Given the description of an element on the screen output the (x, y) to click on. 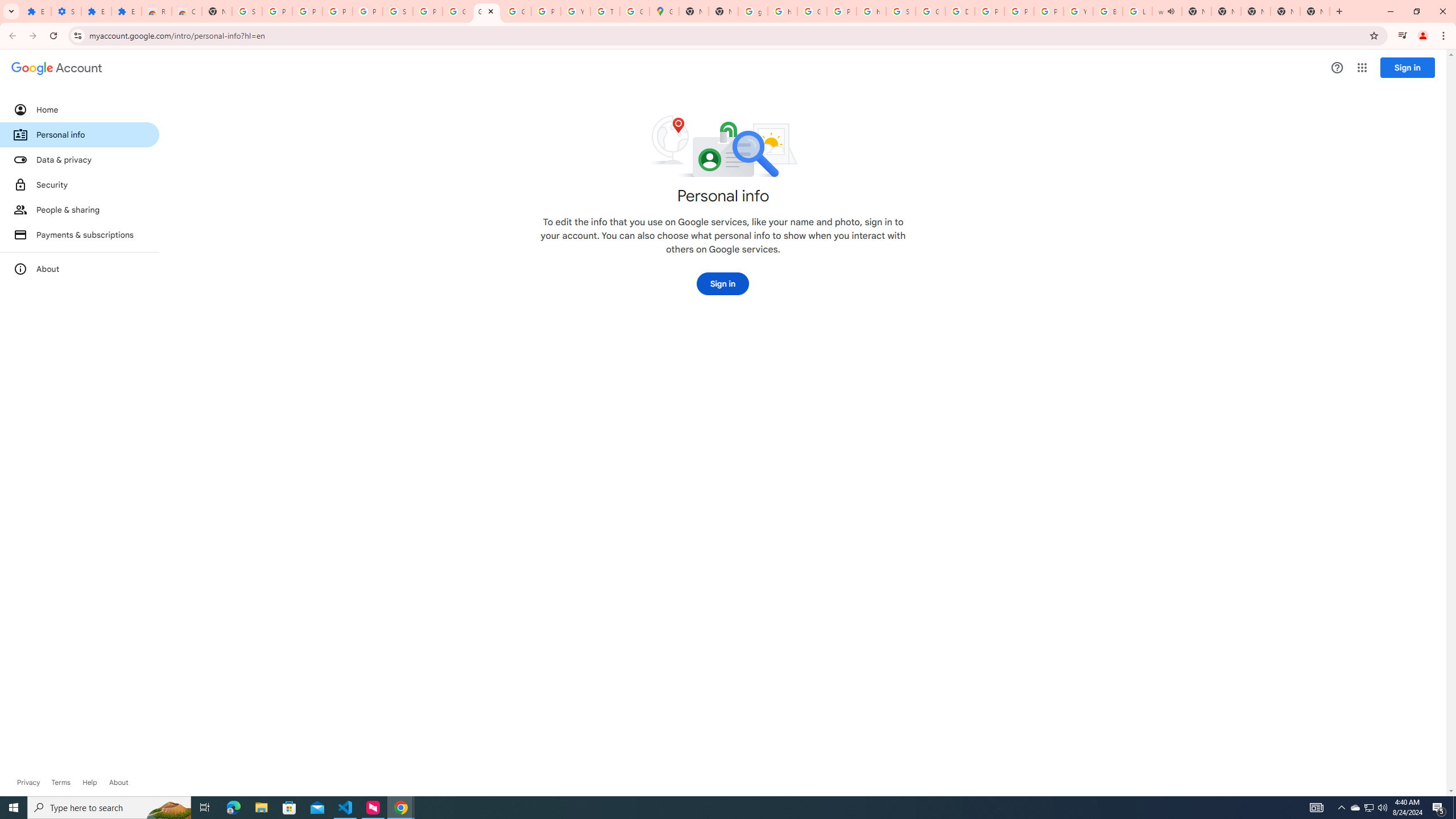
Reviews: Helix Fruit Jump Arcade Game (156, 11)
Personal info (79, 134)
Sign in - Google Accounts (397, 11)
Google Account (456, 11)
